Given the description of an element on the screen output the (x, y) to click on. 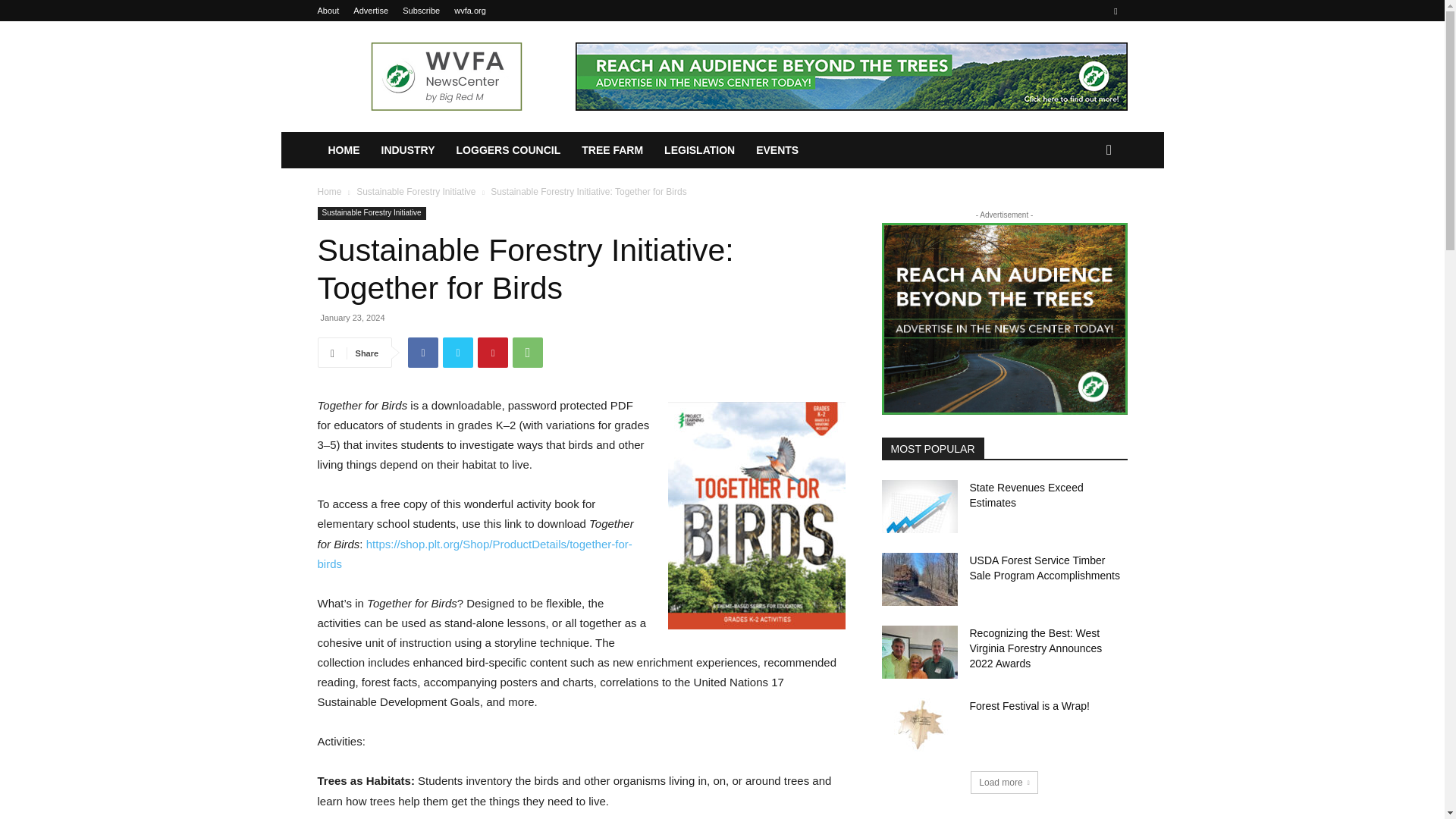
Pinterest (492, 352)
Sustainable Forestry Initiative (371, 213)
Twitter (457, 352)
LOGGERS COUNCIL (508, 149)
WhatsApp (527, 352)
HOME (343, 149)
wvfa.org (470, 10)
Sustainable Forestry Initiative (416, 191)
Subscribe (421, 10)
About (328, 10)
